Given the description of an element on the screen output the (x, y) to click on. 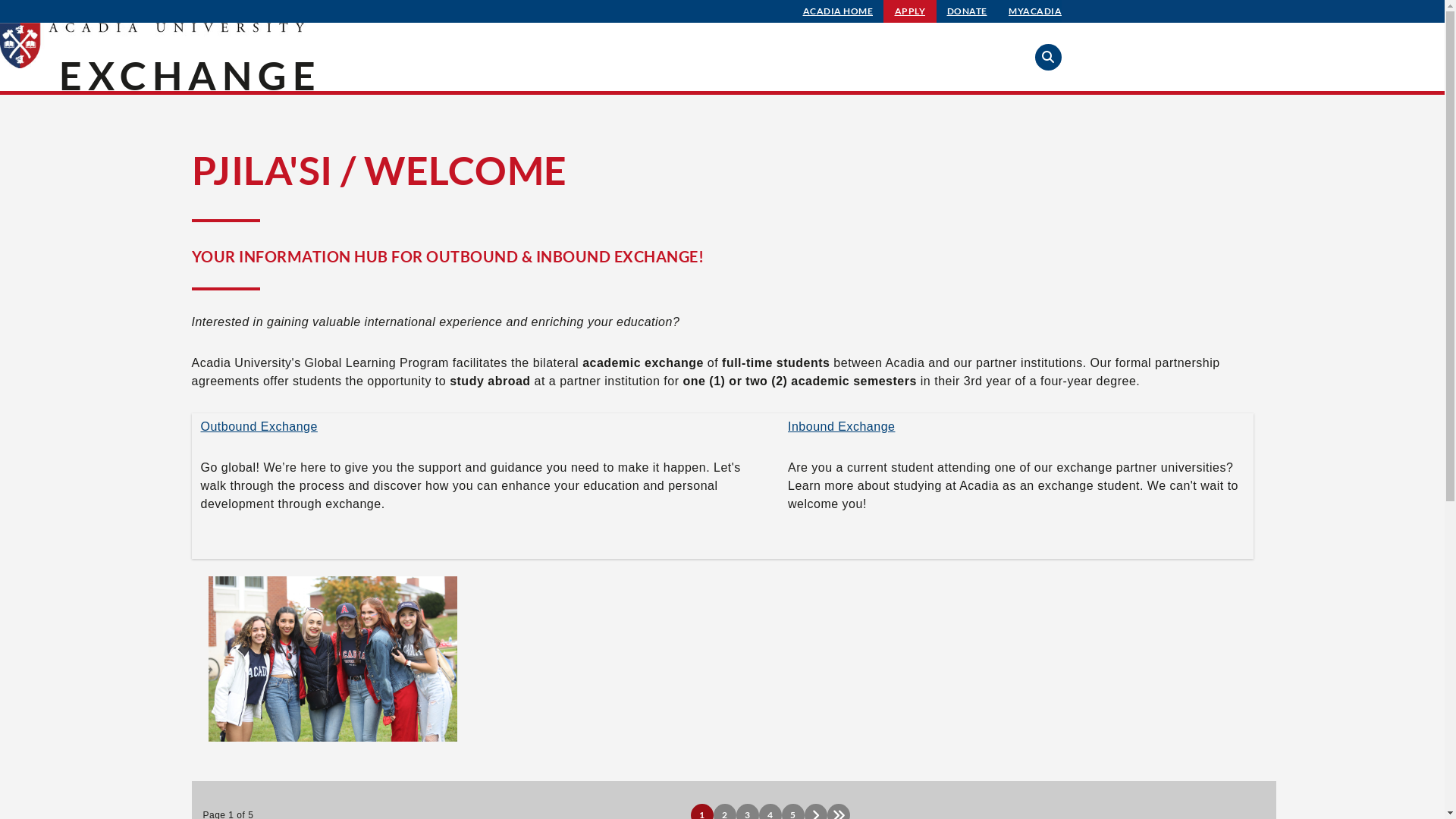
EXCHANGE Element type: text (190, 74)
ACADIA HOME Element type: text (837, 11)
Outbound Exchange Element type: text (258, 426)
APPLY Element type: text (909, 11)
MYACADIA Element type: text (1035, 11)
DONATE Element type: text (966, 11)
Inbound Exchange Element type: text (840, 426)
